Given the description of an element on the screen output the (x, y) to click on. 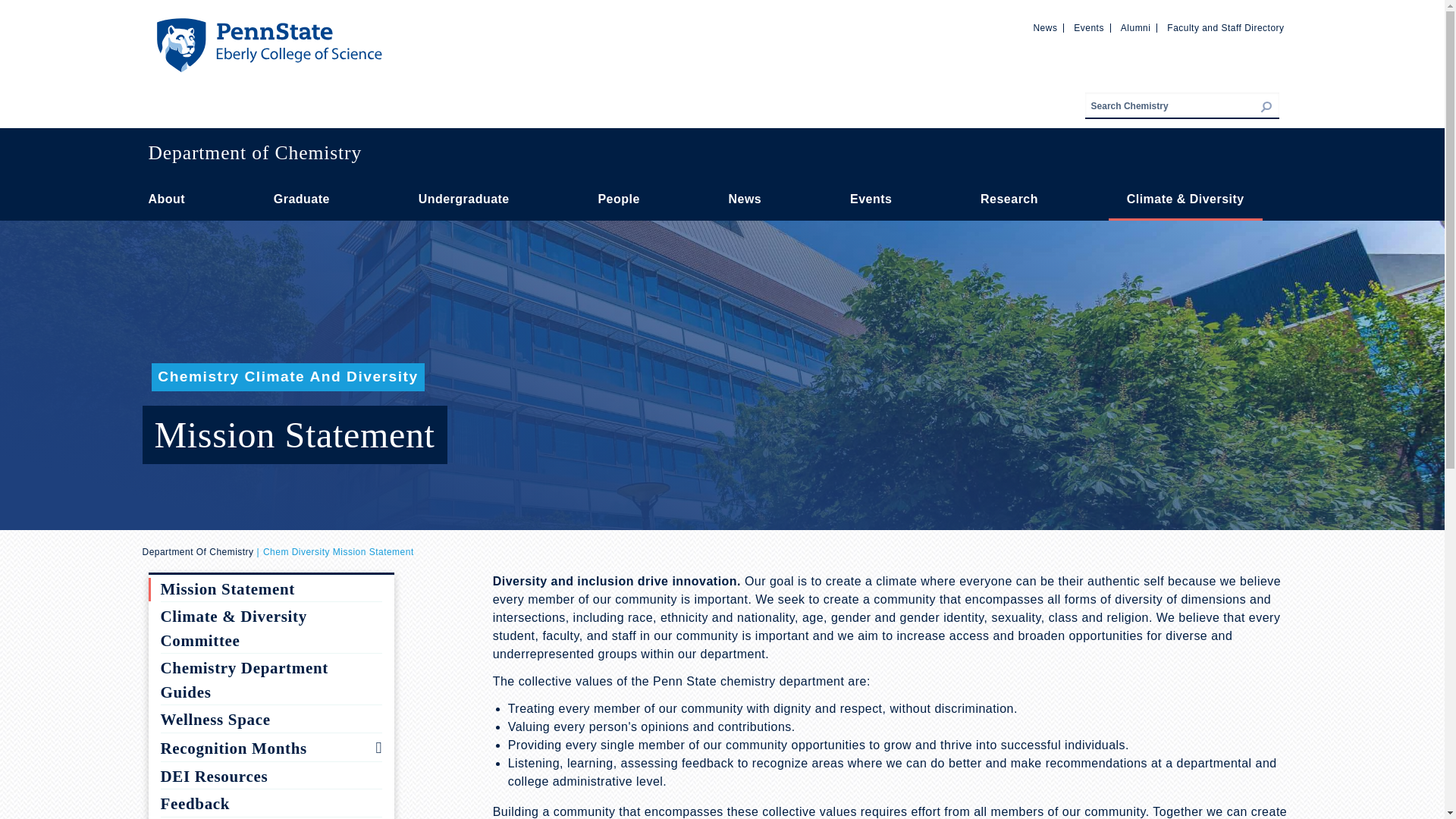
Events (1088, 27)
Chemistry Graduate Program (301, 199)
News (1044, 27)
Search (1278, 116)
Home (267, 24)
Faculty and Staff Directory (1225, 27)
Alumni (1136, 27)
